Given the description of an element on the screen output the (x, y) to click on. 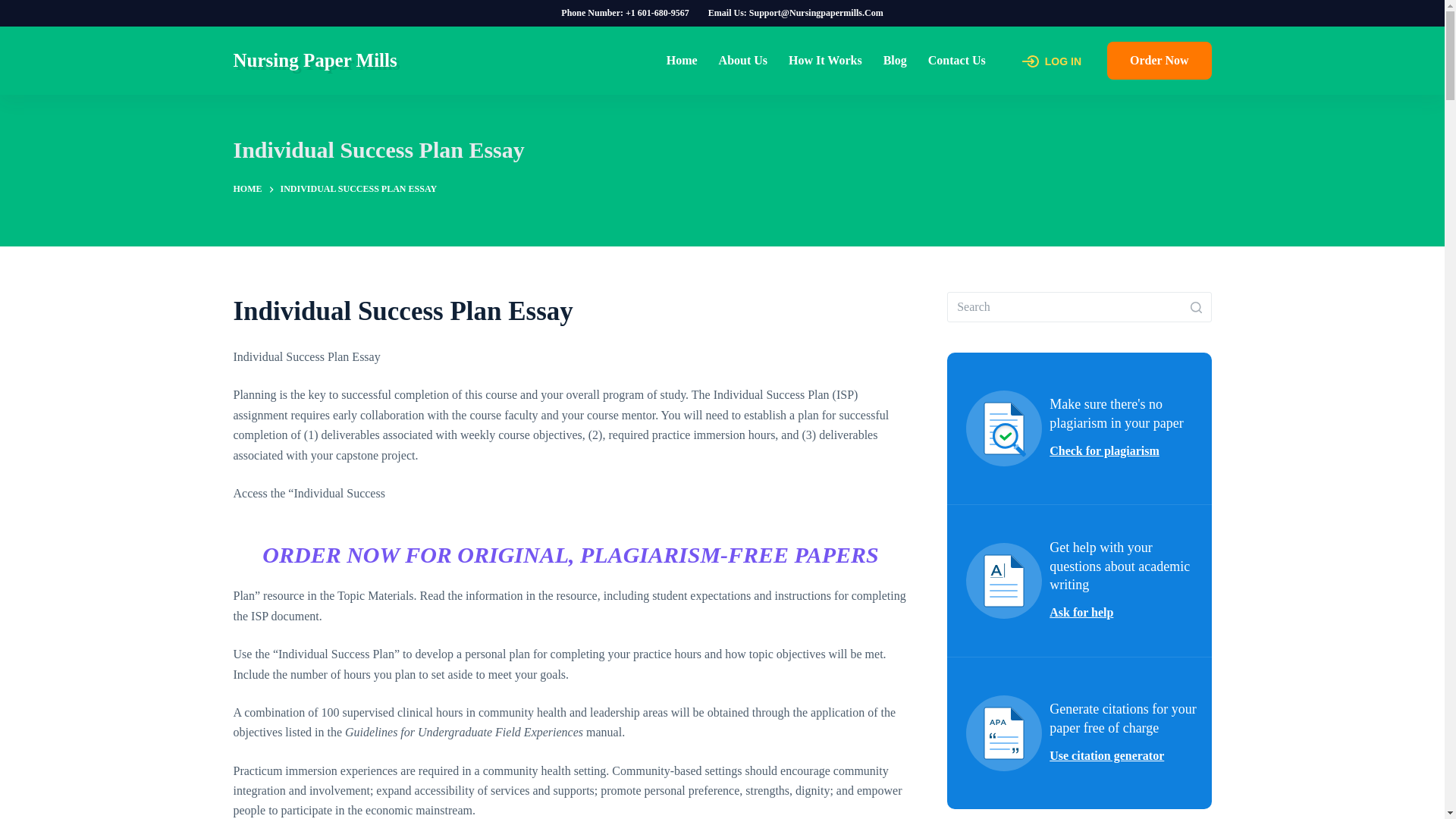
Contact Us (956, 60)
Individual Success Plan Essay (721, 149)
Use citation generator (1110, 755)
HOME (247, 189)
Ask for help (1085, 612)
How It Works (824, 60)
Skip to content (15, 7)
Nursing Paper Mills (314, 59)
ORDER NOW FOR ORIGINAL, PLAGIARISM-FREE PAPERS (569, 554)
Order Now (1158, 60)
Check for plagiarism (1108, 450)
LOG IN (1051, 60)
Search for... (1079, 306)
About Us (742, 60)
